Given the description of an element on the screen output the (x, y) to click on. 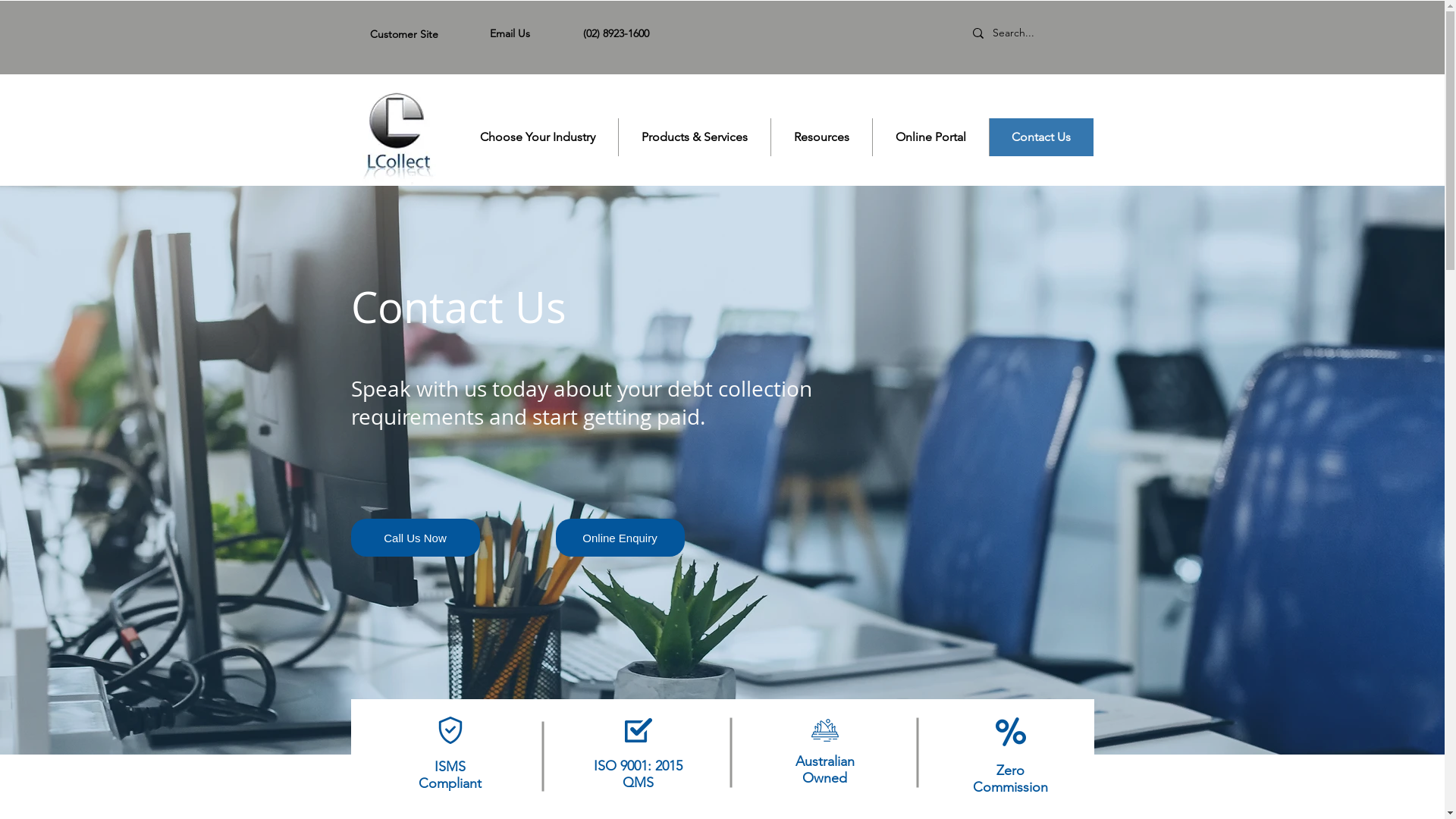
Email Us Element type: text (509, 33)
Customer Site Element type: text (404, 33)
Online Enquiry Element type: text (619, 537)
(02) 8923-1600 Element type: text (616, 33)
Online Portal Element type: text (930, 137)
Contact Us Element type: text (1040, 137)
Call Us Now Element type: text (414, 537)
Home Element type: hover (395, 138)
